Given the description of an element on the screen output the (x, y) to click on. 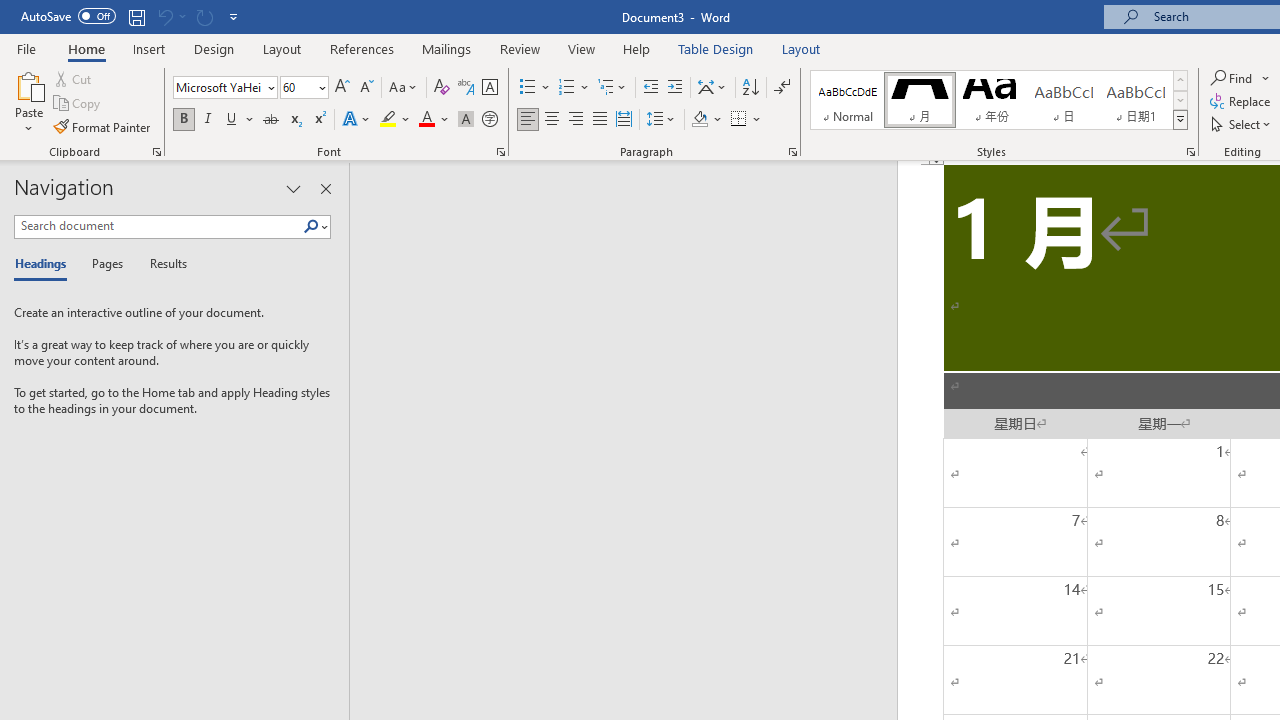
Can't Undo (164, 15)
